Given the description of an element on the screen output the (x, y) to click on. 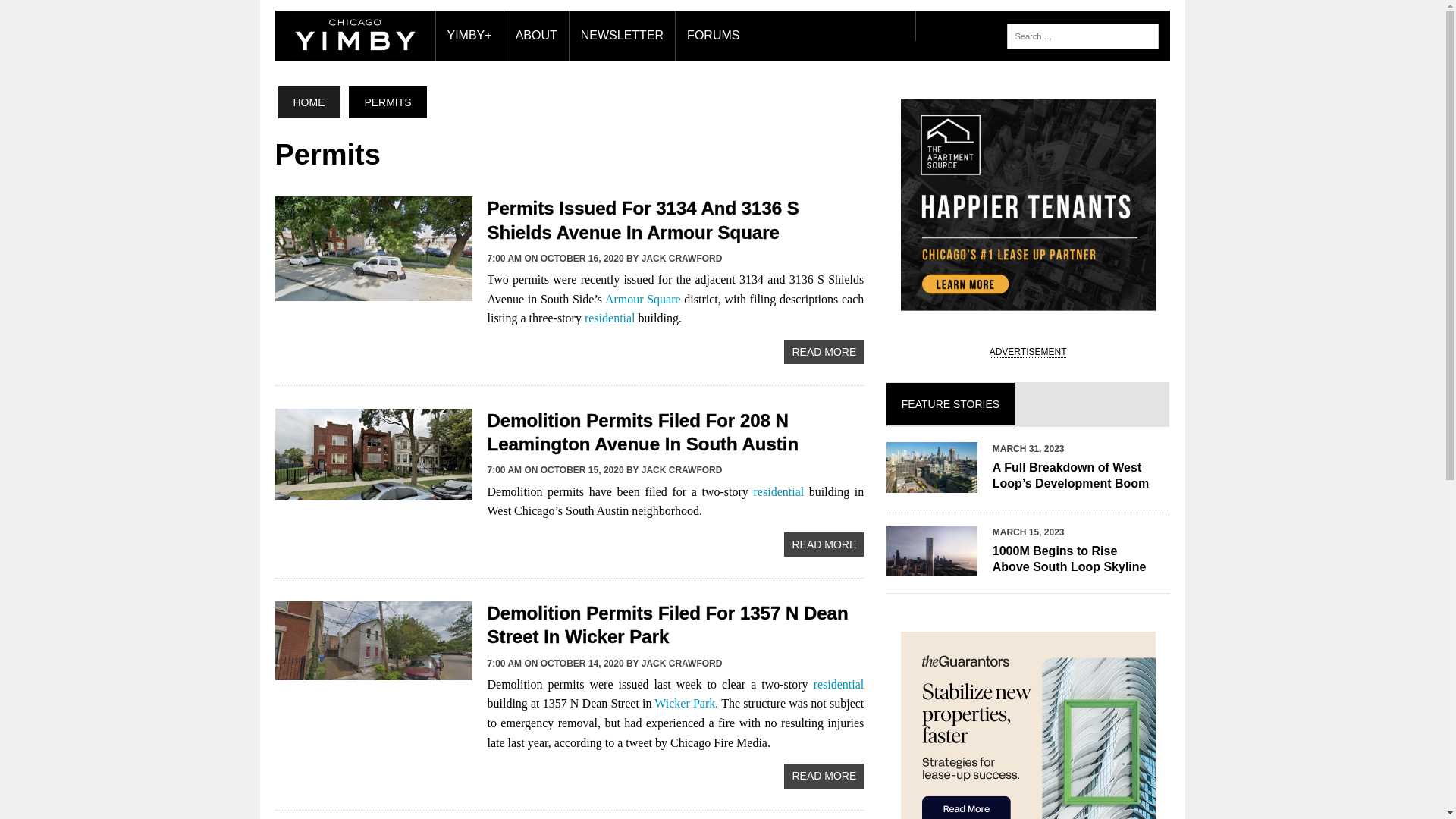
ABOUT (536, 35)
1000M Begins to Rise Above South Loop Skyline (931, 565)
FORUMS (713, 35)
Armour Square (643, 298)
NEWSLETTER (622, 35)
1000M Begins to Rise Above South Loop Skyline (1069, 558)
HOME (308, 101)
Search (75, 14)
